Given the description of an element on the screen output the (x, y) to click on. 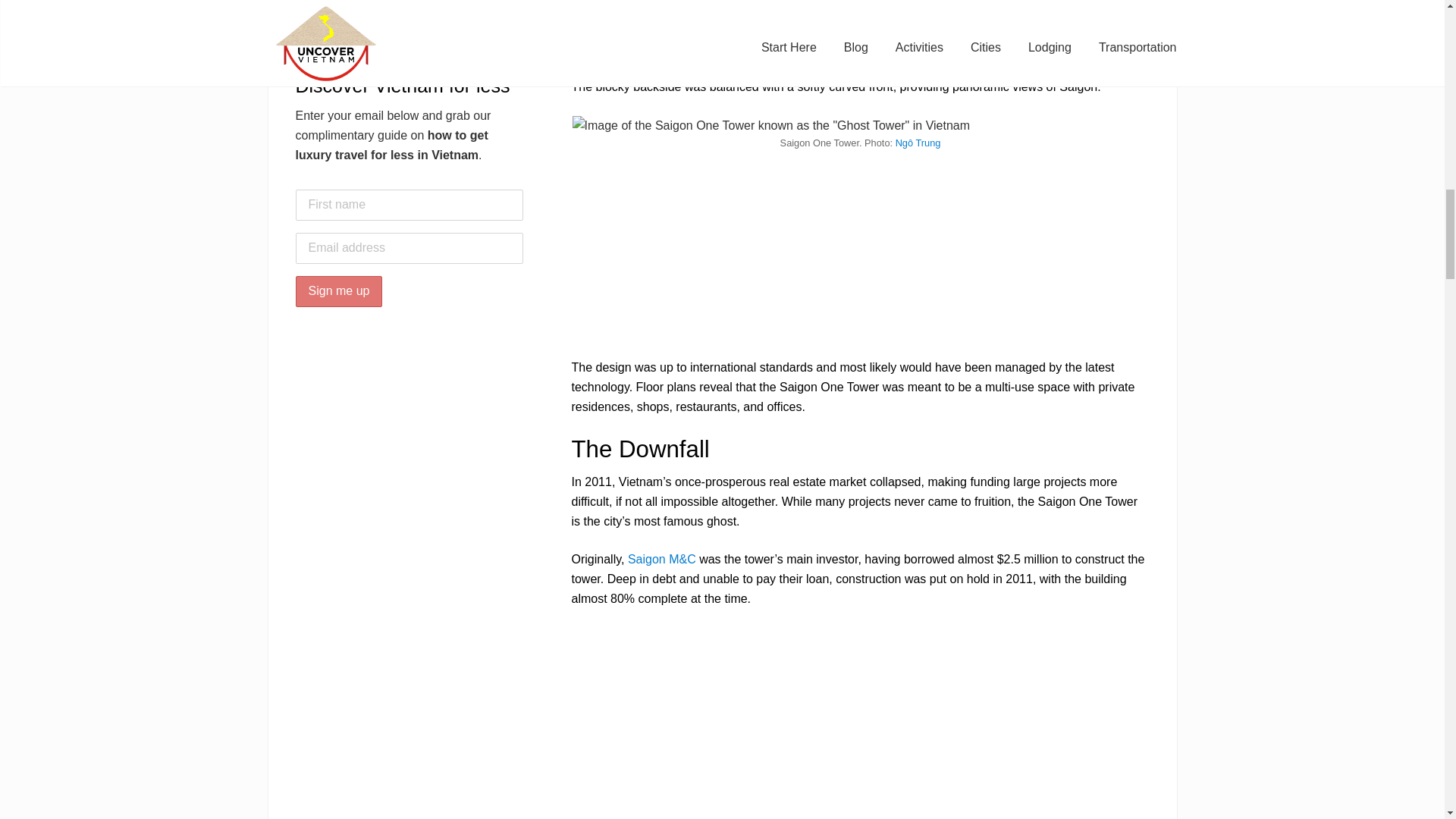
Sign me up (338, 291)
